Given the description of an element on the screen output the (x, y) to click on. 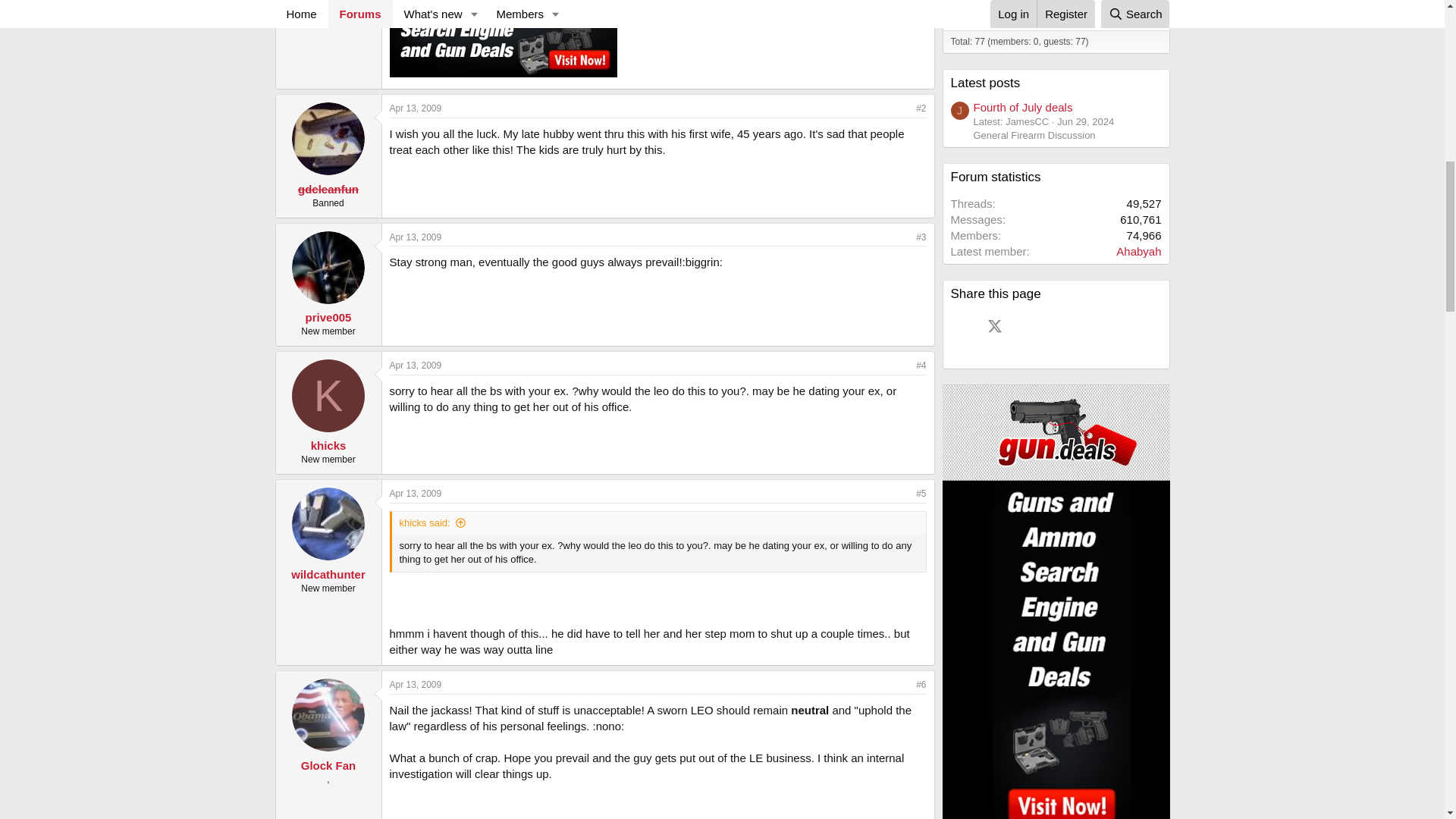
Apr 13, 2009 at 10:37 PM (416, 684)
Apr 13, 2009 at 1:36 PM (416, 236)
Apr 13, 2009 at 5:14 PM (416, 493)
Apr 13, 2009 at 12:49 PM (416, 108)
Apr 13, 2009 at 1:45 PM (416, 365)
